Given the description of an element on the screen output the (x, y) to click on. 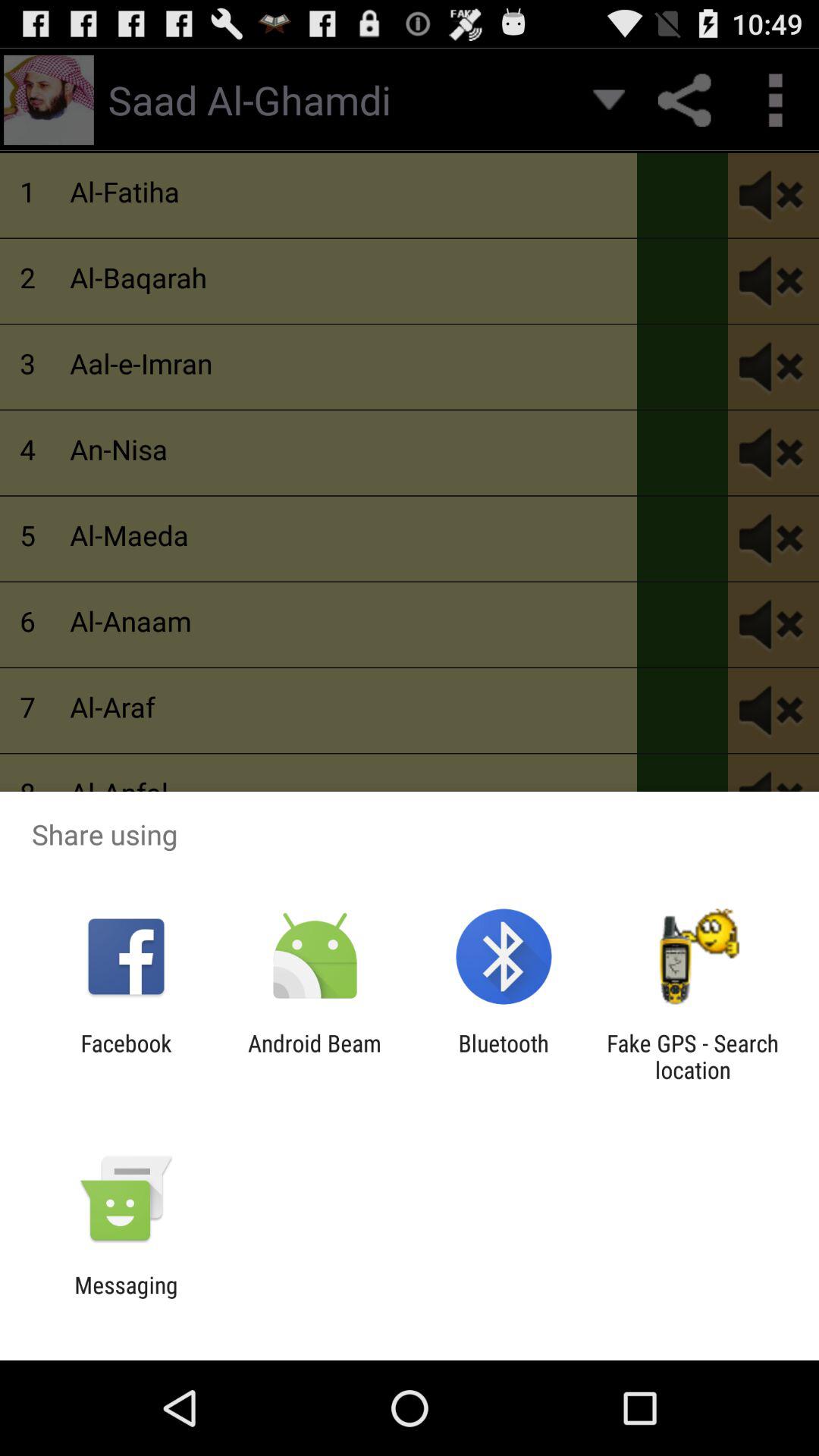
click the android beam item (314, 1056)
